Given the description of an element on the screen output the (x, y) to click on. 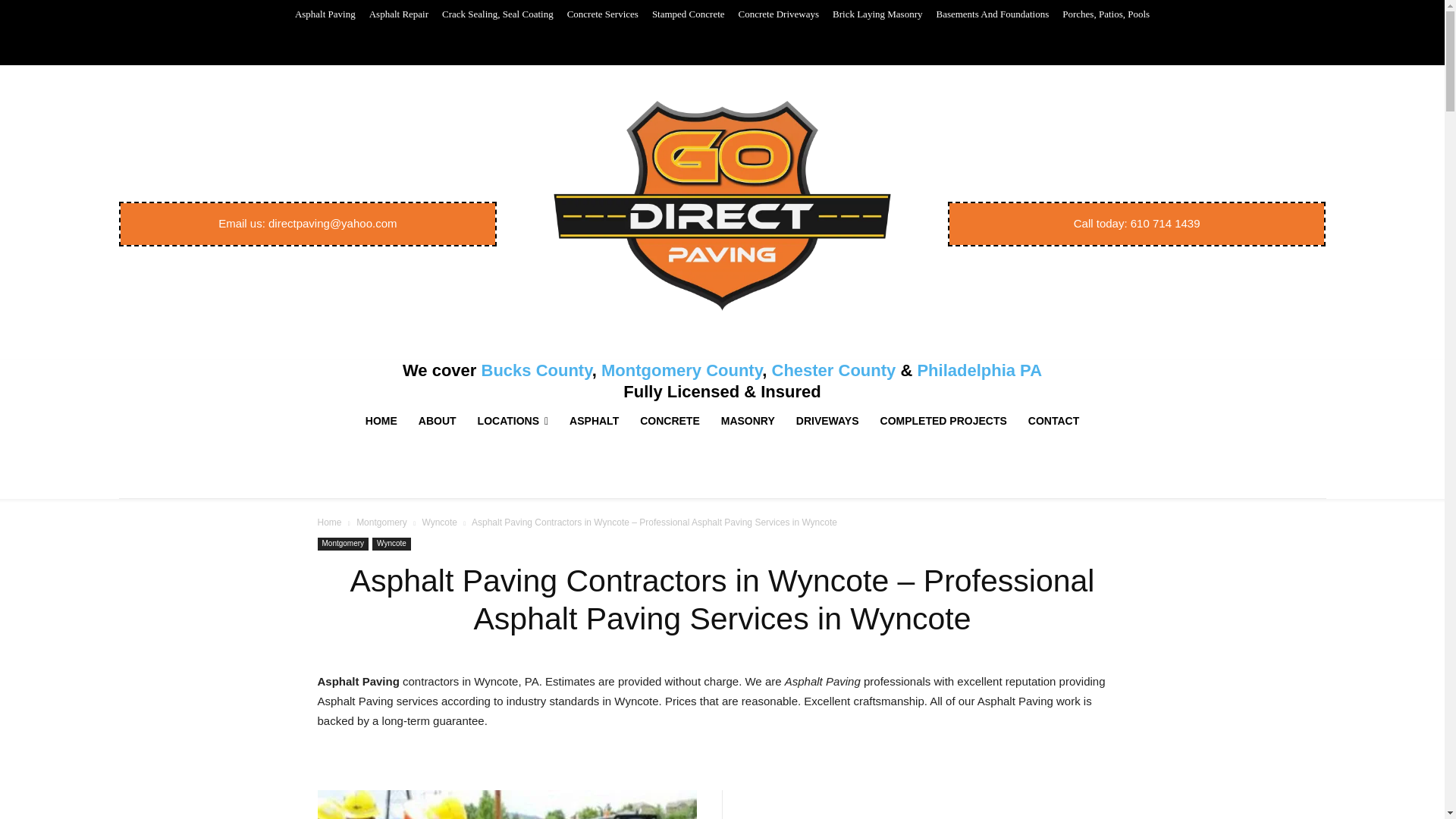
Montgomery County (681, 370)
Asphalt Repair (398, 14)
Concrete Services (602, 14)
Basements And Foundations (991, 14)
HOME (381, 420)
Porches, Patios, Pools (1105, 14)
Stamped Concrete (688, 14)
Philadelphia PA (979, 370)
Bucks County (535, 370)
View all posts in Montgomery (381, 521)
